Given the description of an element on the screen output the (x, y) to click on. 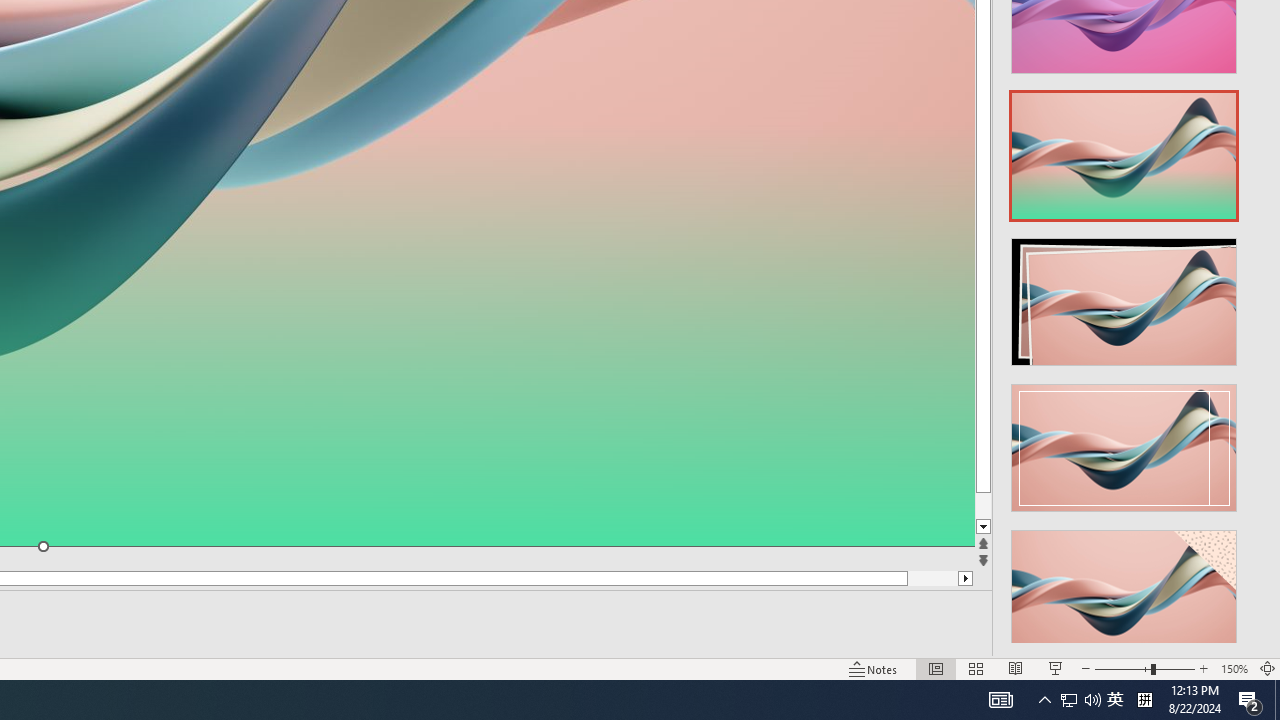
Zoom 150% (1234, 668)
